Given the description of an element on the screen output the (x, y) to click on. 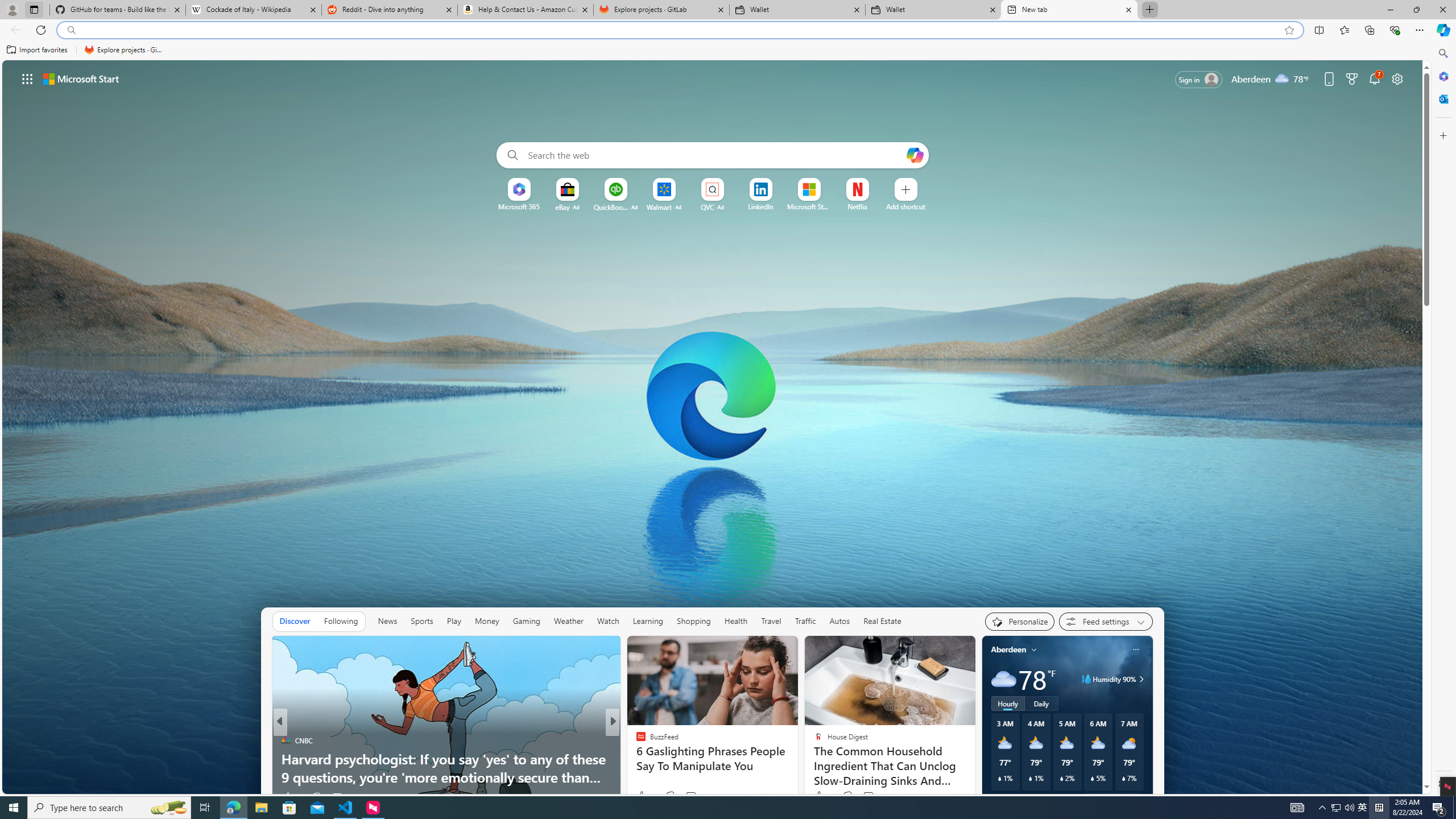
Humidity 90% (1139, 678)
Class: weather-arrow-glyph (1141, 678)
LinkedIn (760, 206)
Class: weather-current-precipitation-glyph (1123, 778)
Traffic (804, 621)
Travel (770, 621)
Add a site (906, 206)
Hourly (1007, 703)
Weather (568, 621)
Vox.com (635, 740)
Sports (421, 621)
Reader's Digest (635, 758)
3k Like (641, 796)
